Given the description of an element on the screen output the (x, y) to click on. 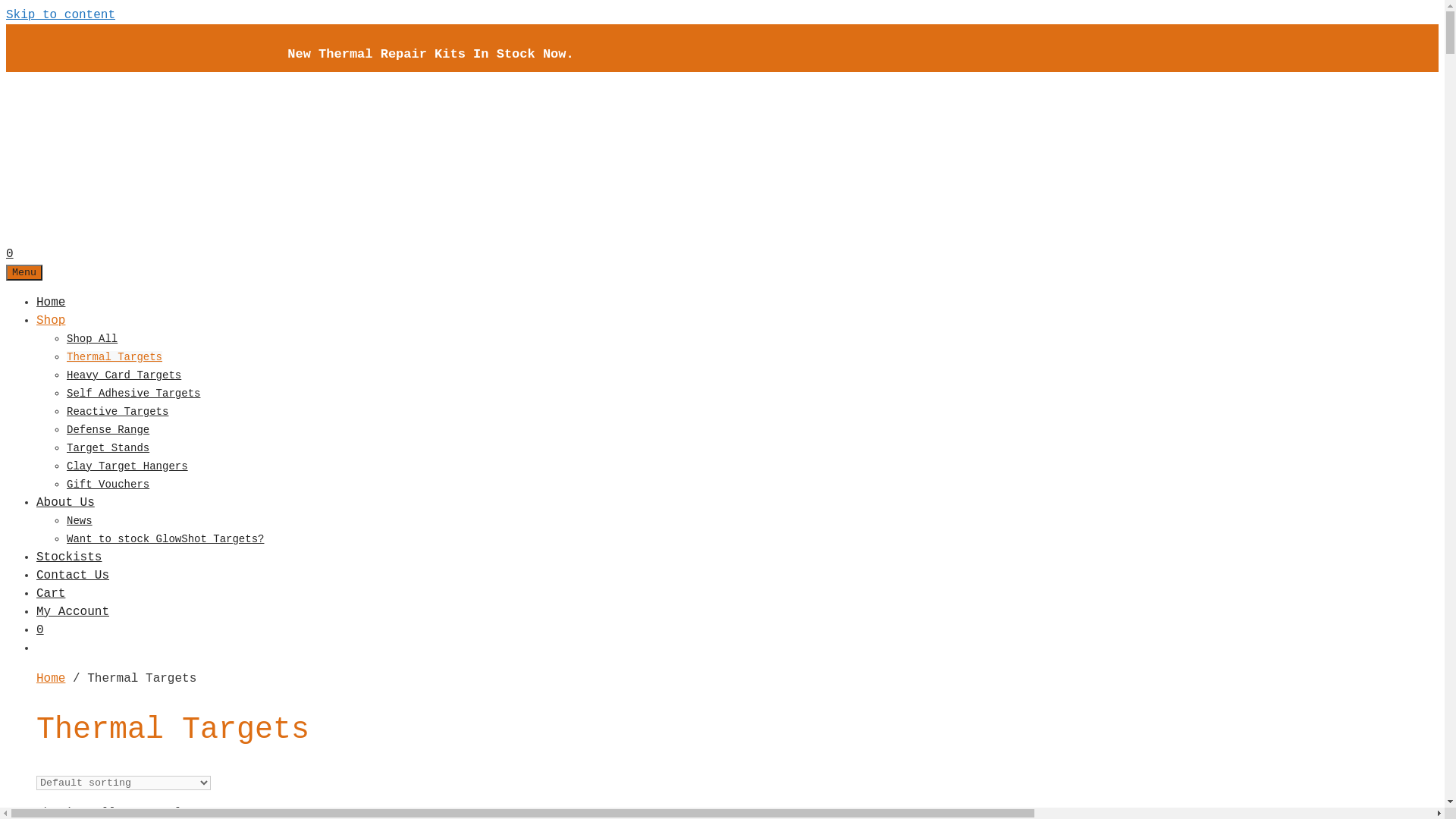
My Account Element type: text (72, 611)
Clay Target Hangers Element type: text (127, 465)
0 Element type: text (9, 253)
Home Element type: text (50, 678)
Target Stands Element type: text (107, 447)
Gift Vouchers Element type: text (107, 483)
Thermal Targets Element type: text (114, 356)
Home Element type: text (50, 302)
Stockists Element type: text (68, 557)
0 Element type: text (39, 630)
Heavy Card Targets Element type: text (123, 374)
Shop Element type: text (50, 320)
About Us Element type: text (65, 502)
Reactive Targets Element type: text (117, 410)
Contact Us Element type: text (72, 575)
Self Adhesive Targets Element type: text (133, 392)
News Element type: text (79, 520)
Cart Element type: text (50, 593)
Shop All Element type: text (91, 338)
Want to stock GlowShot Targets? Element type: text (164, 538)
Skip to content Element type: text (60, 14)
Menu Element type: text (24, 271)
Defense Range Element type: text (107, 429)
